Given the description of an element on the screen output the (x, y) to click on. 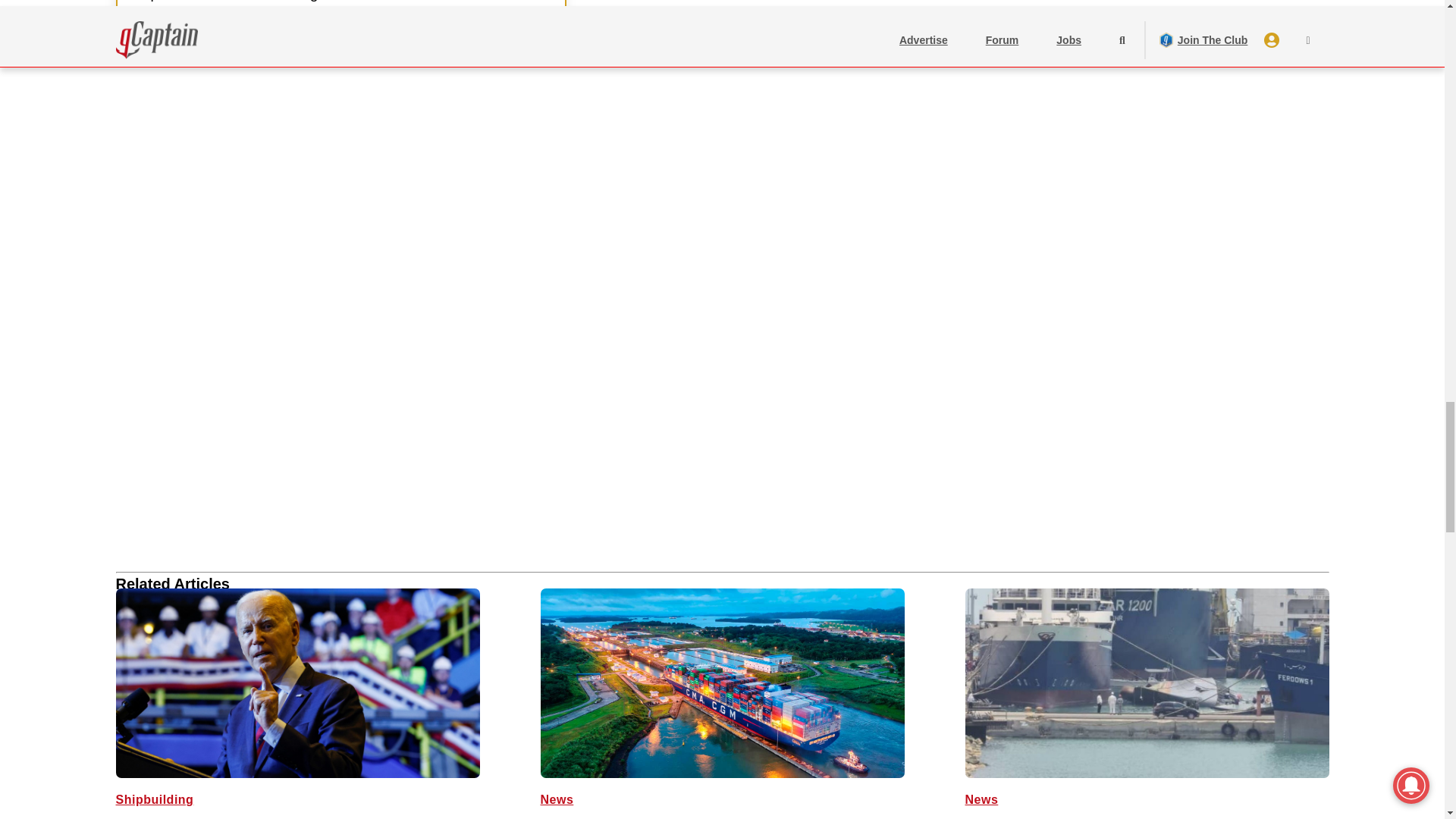
Sign In (292, 42)
Sign Up (174, 42)
3rd party ad content (228, 314)
